Given the description of an element on the screen output the (x, y) to click on. 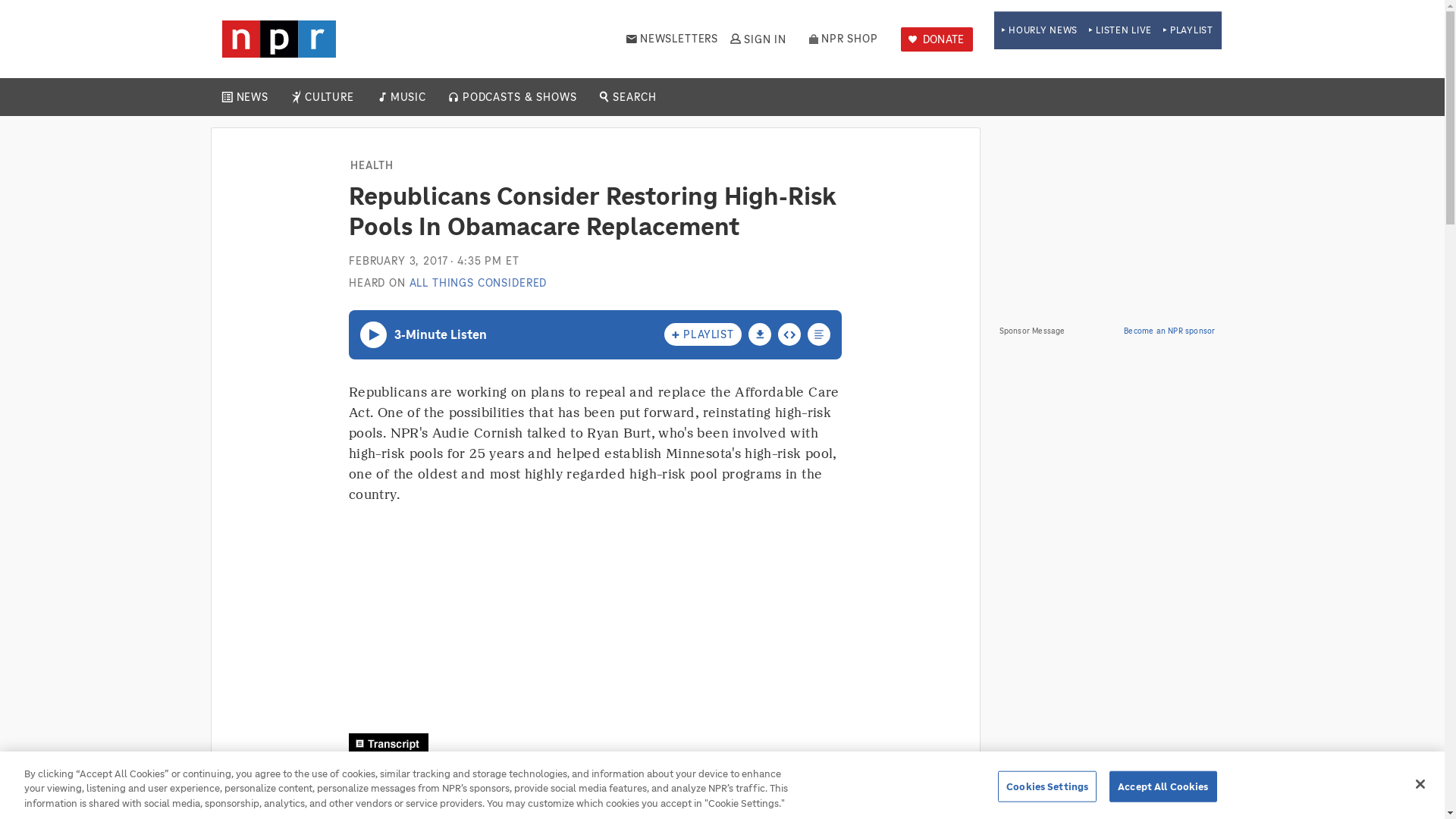
DONATE (936, 39)
MUSIC (407, 96)
NEWSLETTERS (671, 38)
LISTEN LIVE (1120, 30)
HOURLY NEWS (1039, 30)
NPR SHOP (843, 38)
PLAYLIST (1187, 30)
CULTURE (328, 96)
NEWS (251, 96)
SIGN IN (757, 38)
